Given the description of an element on the screen output the (x, y) to click on. 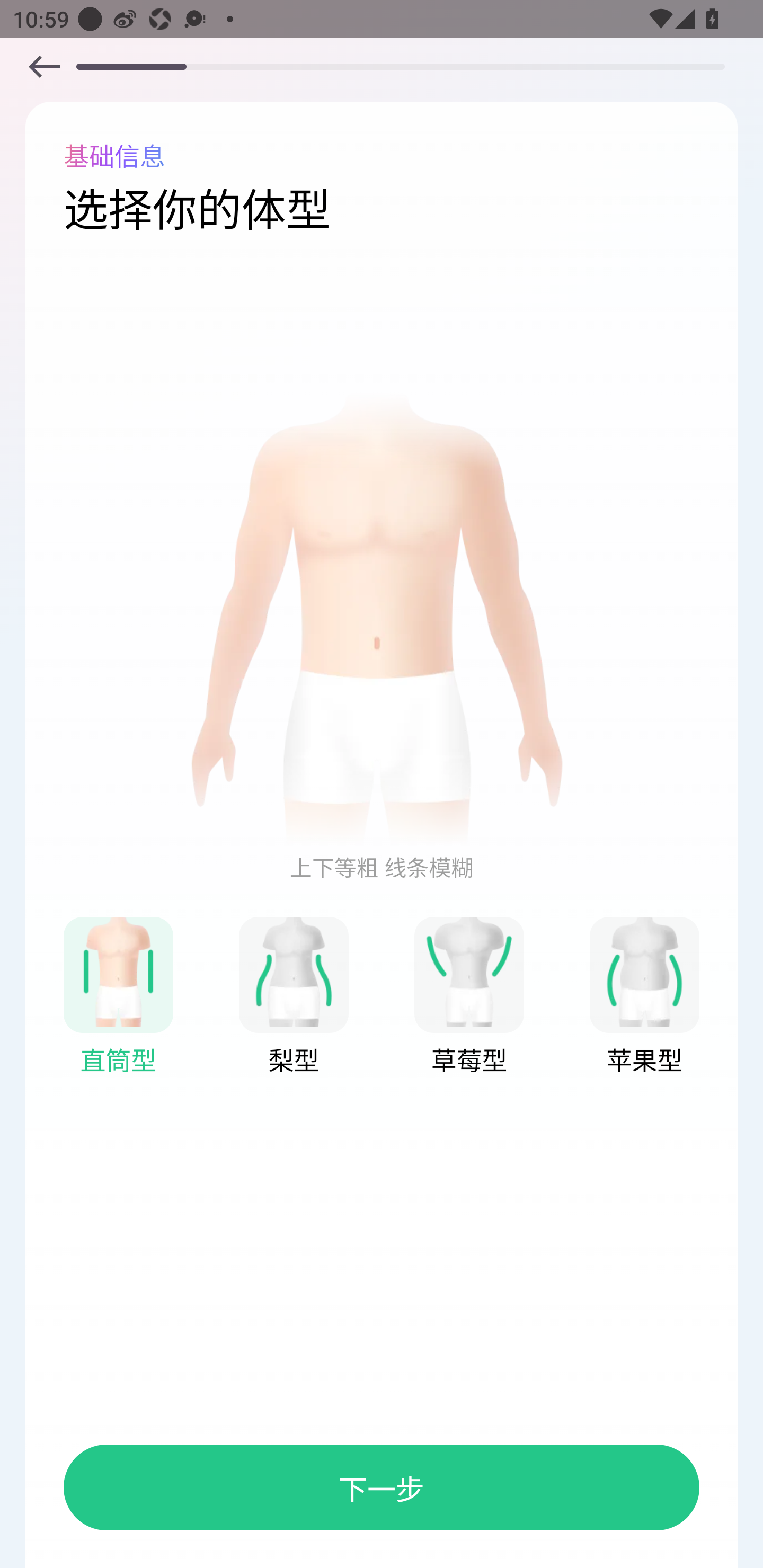
1 (44, 66)
1 (381, 618)
1   1 直筒型 (118, 996)
1 (118, 971)
1   1 梨型 (293, 996)
1 (293, 971)
1   1 草莓型 (468, 996)
1 (468, 971)
1   1 苹果型 (644, 996)
1 (644, 971)
下一步 (381, 1487)
